Given the description of an element on the screen output the (x, y) to click on. 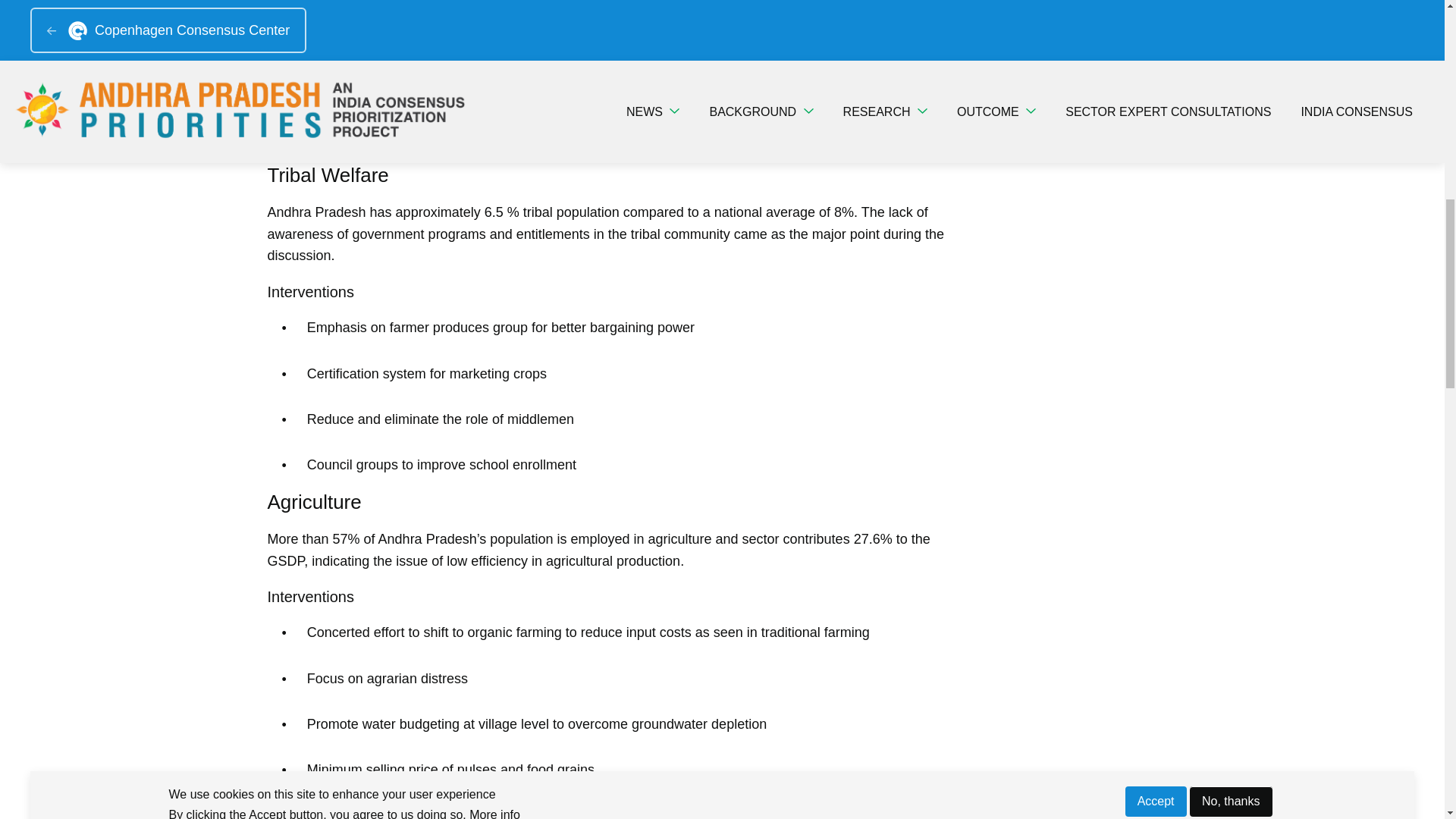
More info (493, 1)
